Given the description of an element on the screen output the (x, y) to click on. 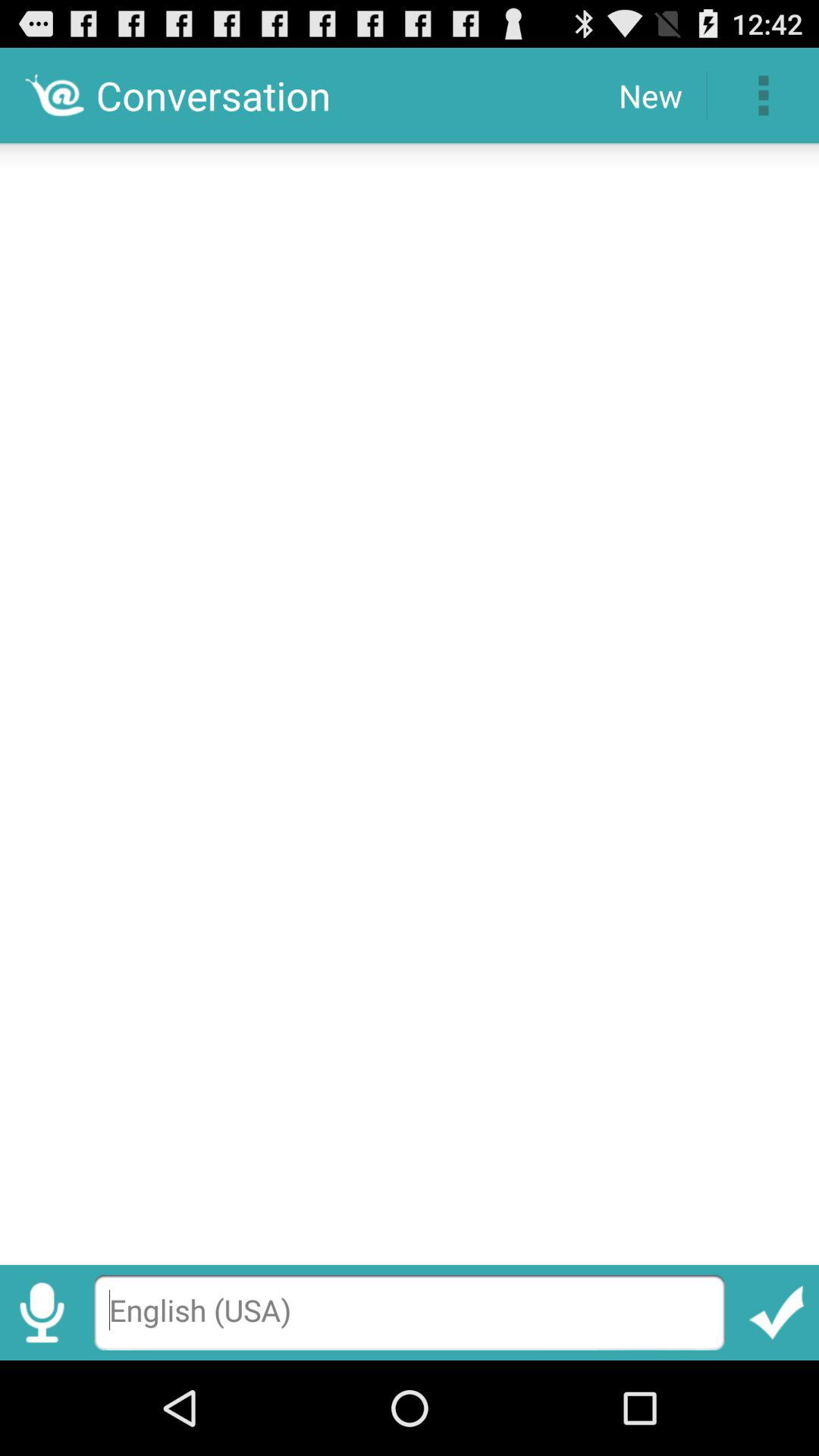
click the icon to the right of the conversation item (650, 95)
